Given the description of an element on the screen output the (x, y) to click on. 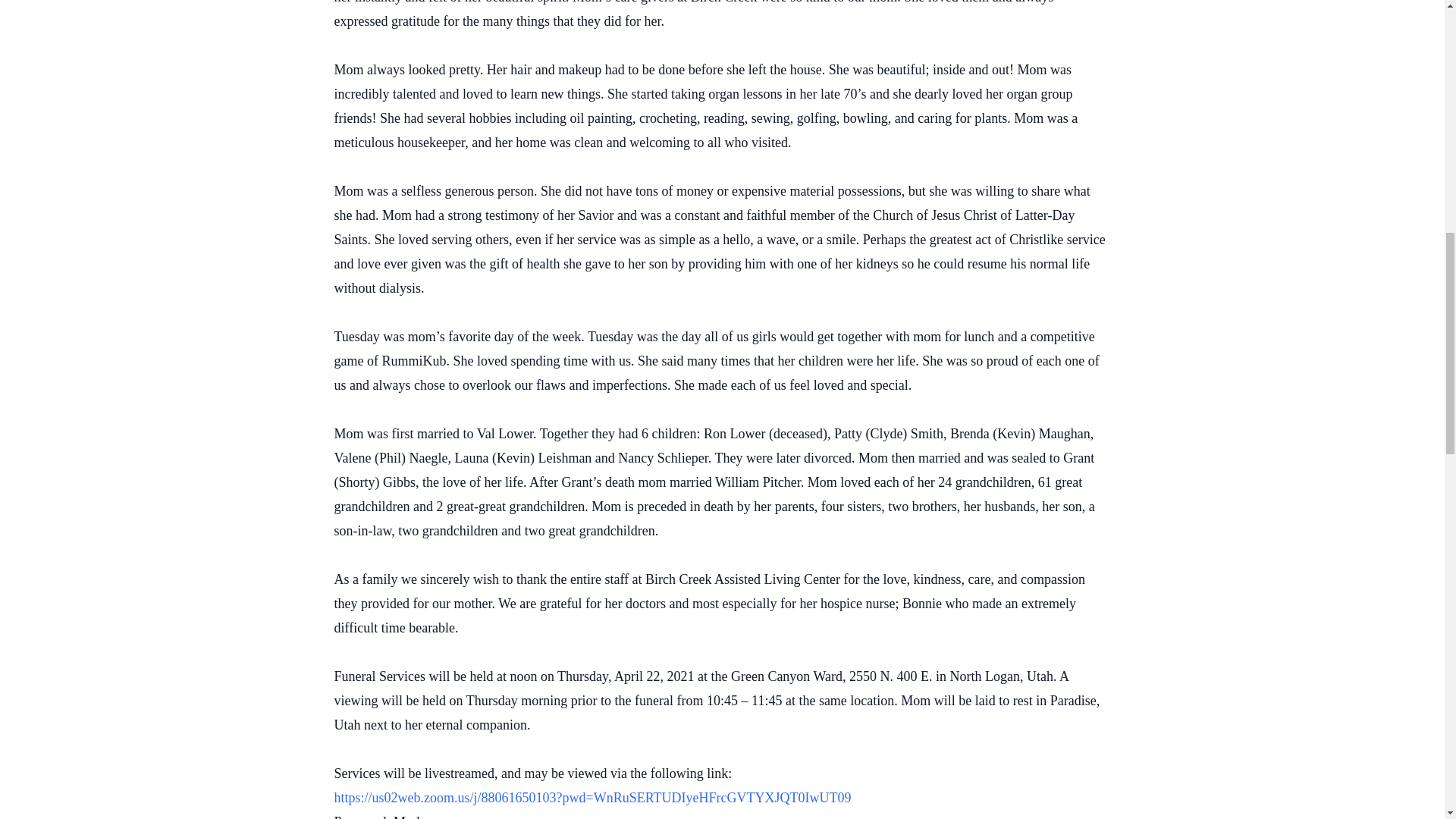
Click to open in a new window or tab (591, 797)
